Given the description of an element on the screen output the (x, y) to click on. 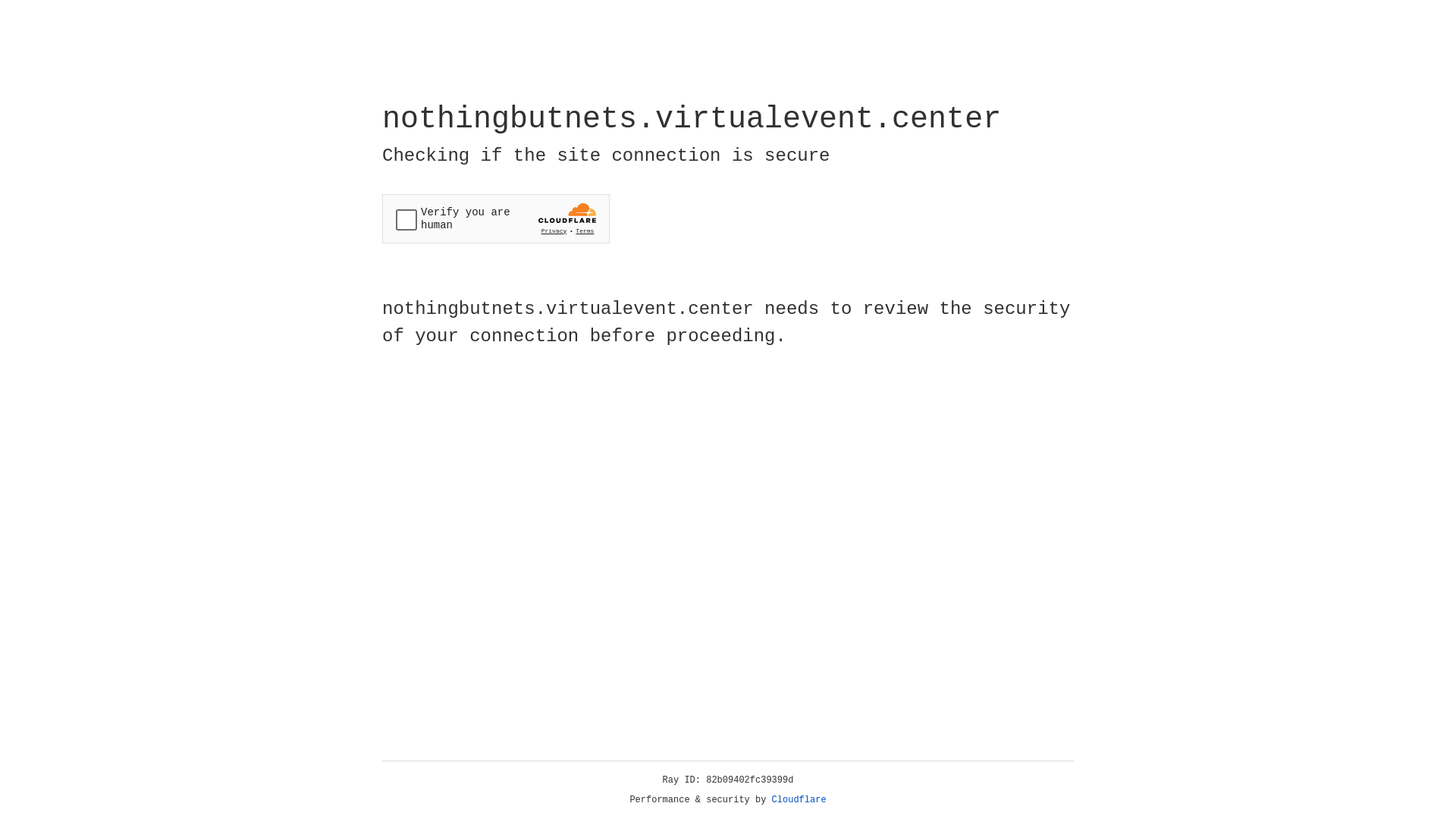
Cloudflare Element type: text (798, 799)
Widget containing a Cloudflare security challenge Element type: hover (495, 218)
